Given the description of an element on the screen output the (x, y) to click on. 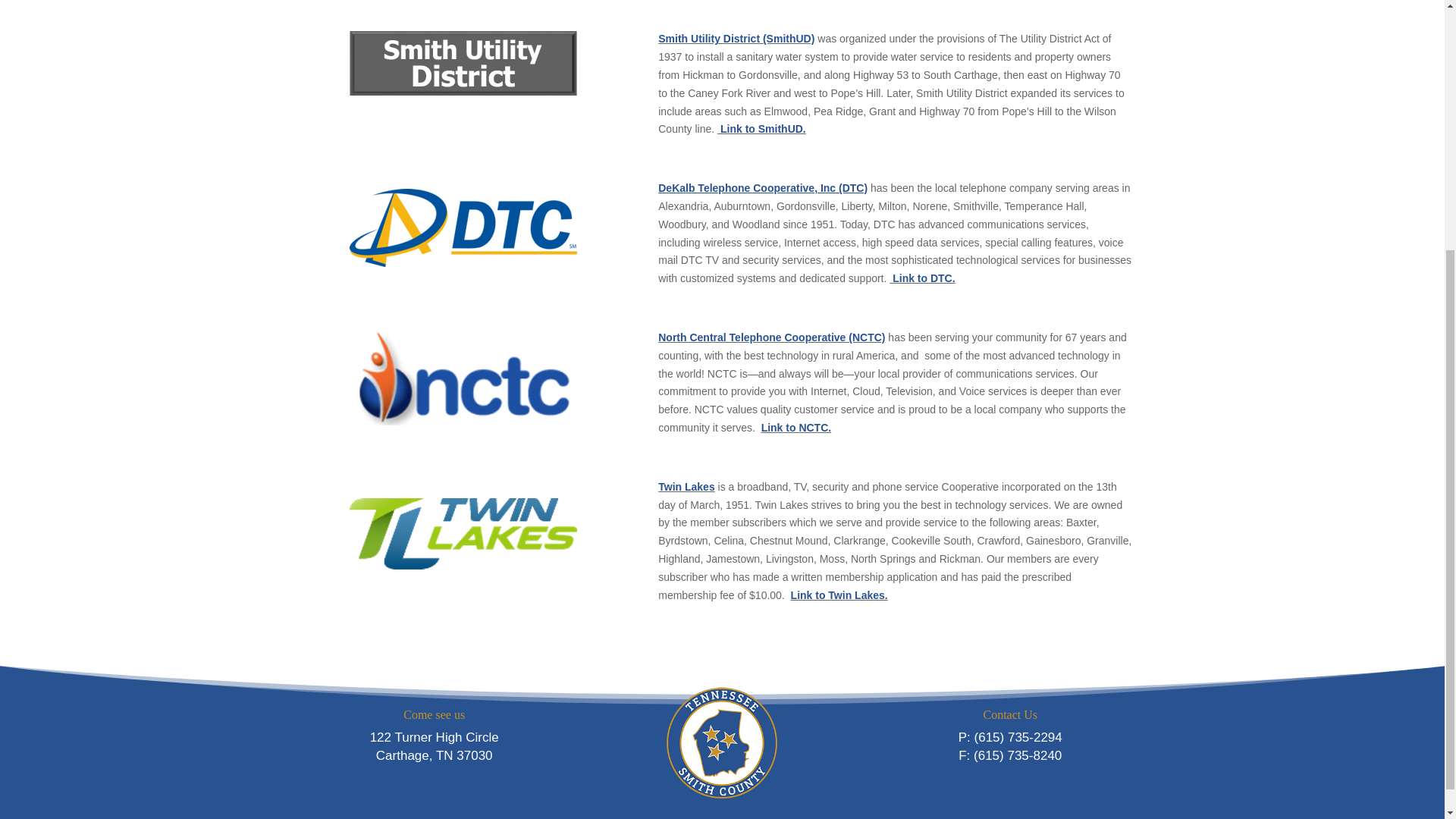
TL2 (462, 526)
NCTC (462, 377)
SmithCountyGovLogoWEB-2 (721, 742)
DTC (462, 227)
Smith Utility (462, 62)
